Given the description of an element on the screen output the (x, y) to click on. 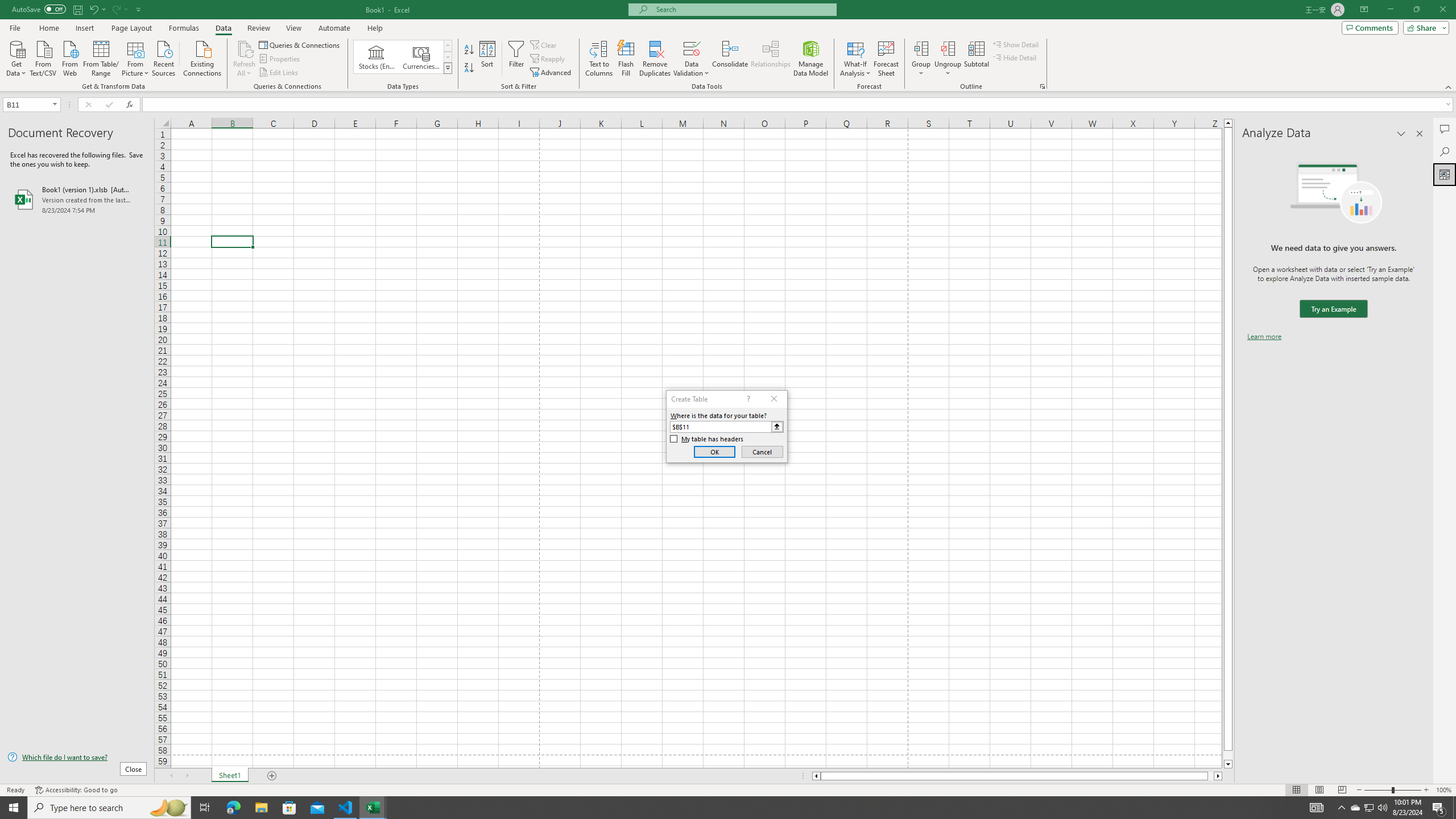
Recent Sources (163, 57)
Microsoft search (742, 9)
Forecast Sheet (885, 58)
From Table/Range (100, 57)
Task Pane Options (1400, 133)
Manage Data Model (810, 58)
Book1 (version 1).xlsb  [AutoRecovered] (77, 199)
